Given the description of an element on the screen output the (x, y) to click on. 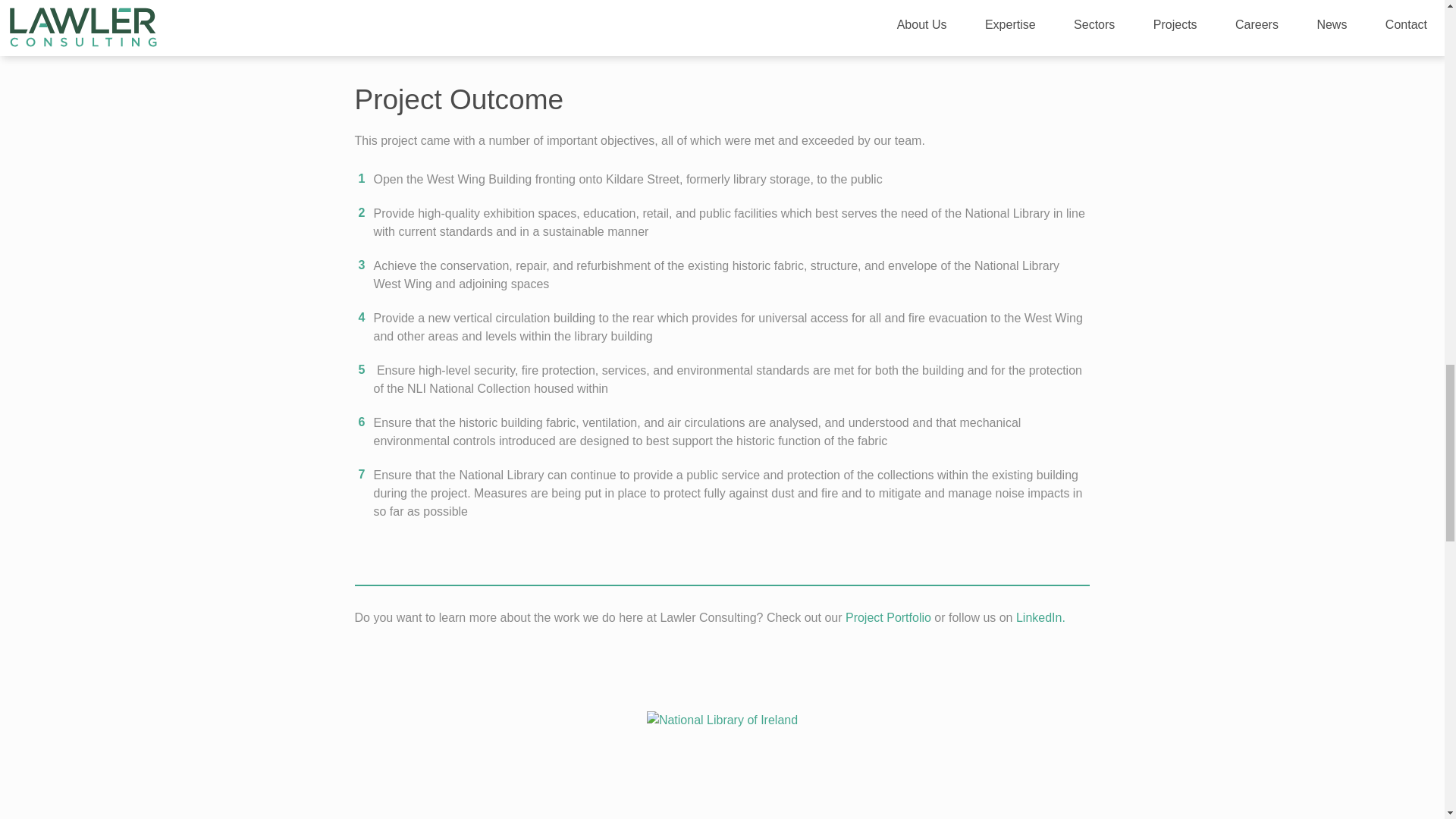
LinkedIn.  (1042, 617)
Project Portfolio (888, 617)
